Given the description of an element on the screen output the (x, y) to click on. 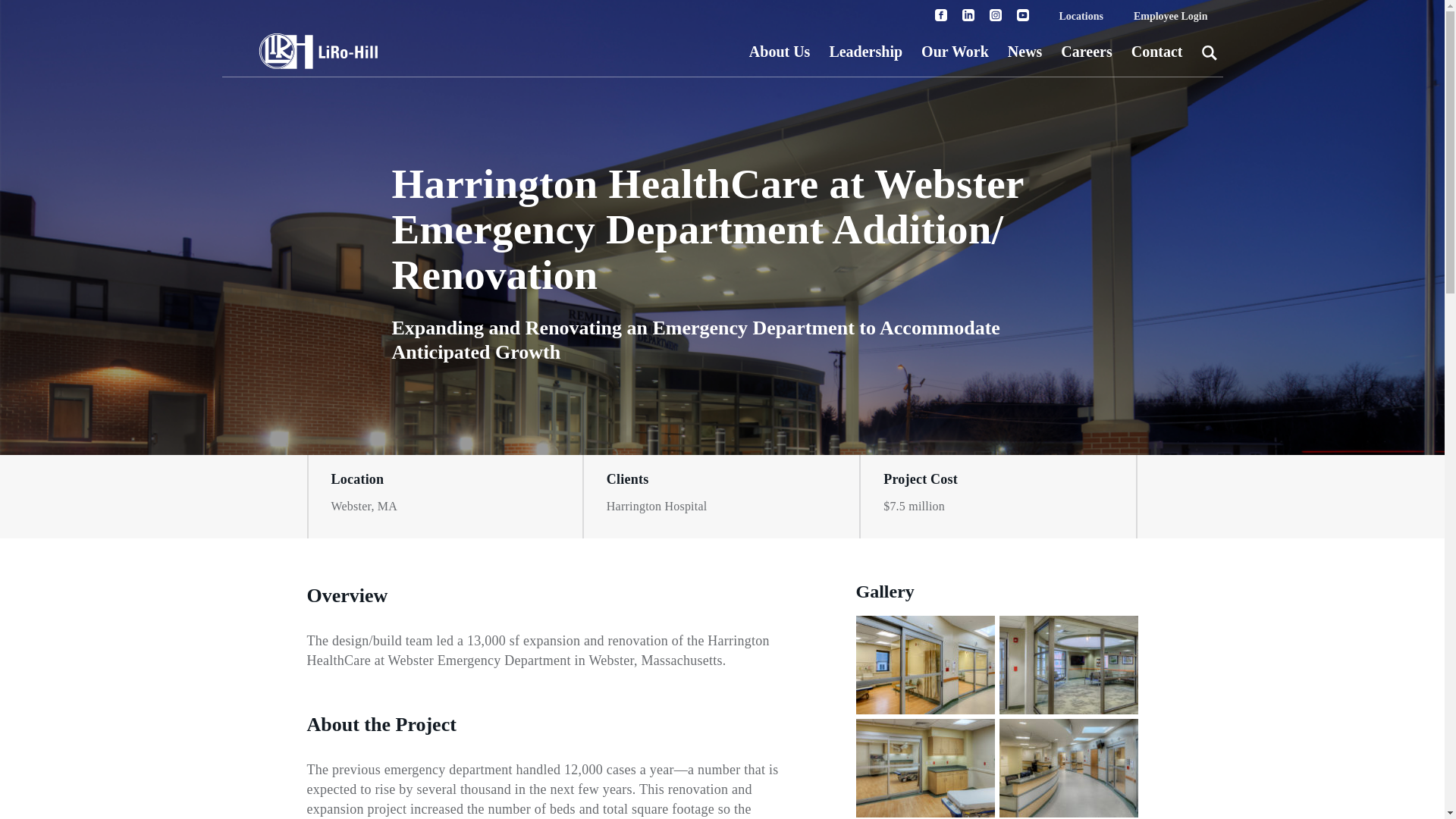
Careers (1086, 50)
Our Work (954, 50)
Contact (1156, 50)
Locations (1080, 16)
News (1024, 50)
Employee Login (1170, 16)
Leadership (865, 50)
About Us (779, 50)
